Given the description of an element on the screen output the (x, y) to click on. 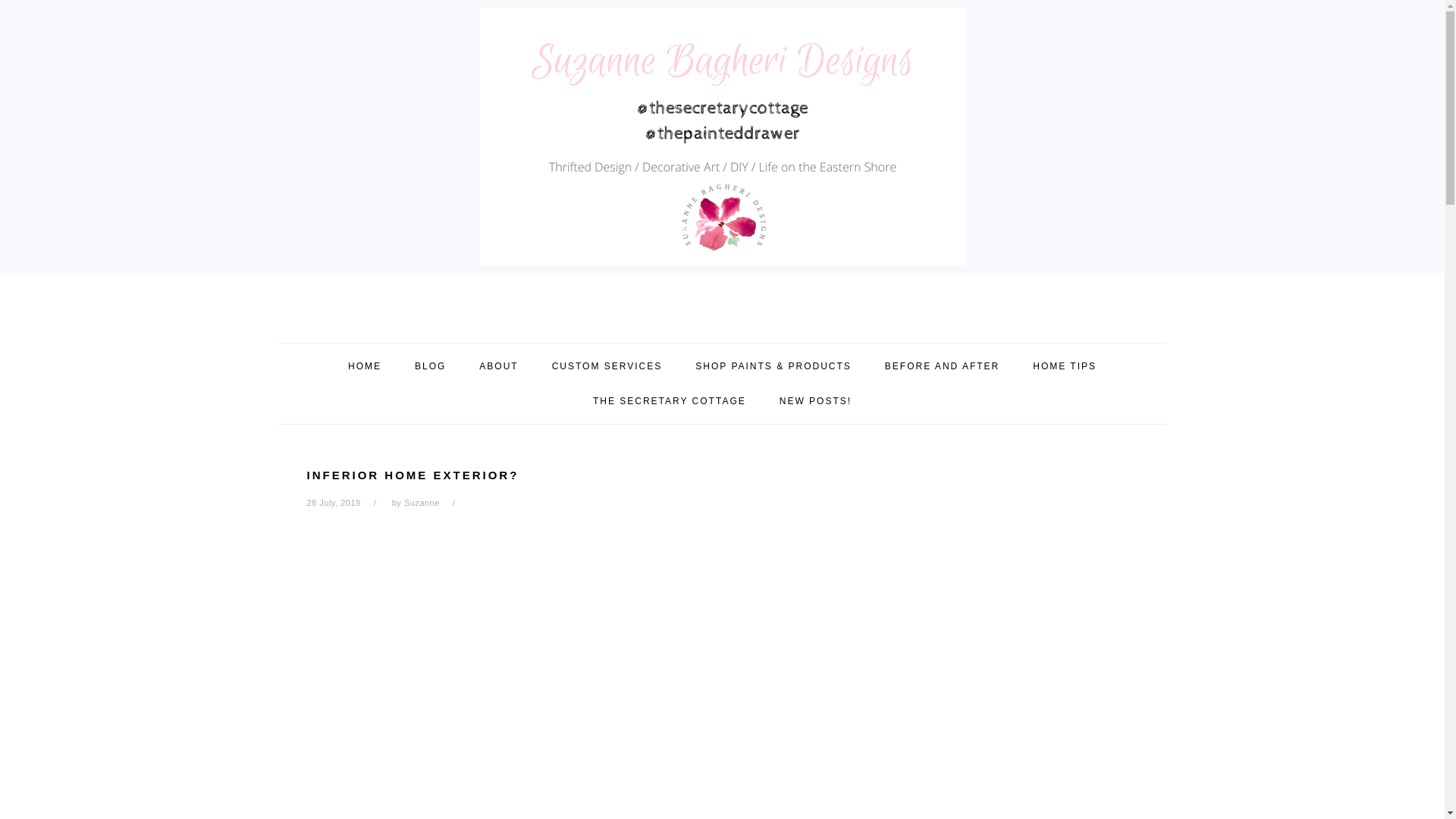
Suzanne (421, 501)
Advertisement (563, 779)
Advertisement (419, 633)
BEFORE AND AFTER (941, 366)
HOME TIPS (1064, 366)
THE SECRETARY COTTAGE (668, 401)
CUSTOM SERVICES (606, 366)
BLOG (429, 366)
NEW POSTS! (814, 401)
